Given the description of an element on the screen output the (x, y) to click on. 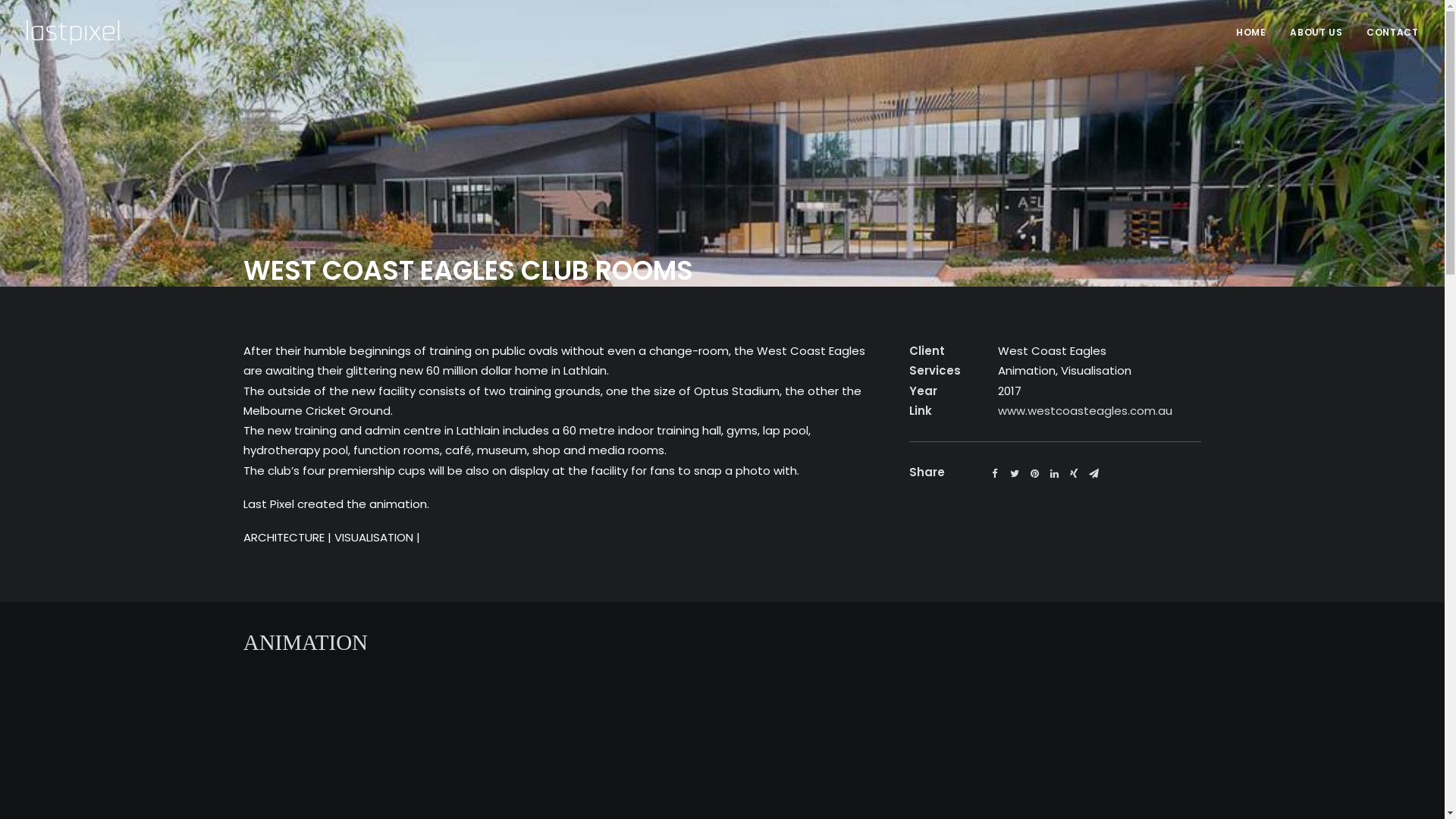
ABOUT US Element type: text (1315, 32)
CONTACT Element type: text (1386, 32)
www.westcoasteagles.com.au Element type: text (1084, 410)
HOME Element type: text (1256, 32)
